Given the description of an element on the screen output the (x, y) to click on. 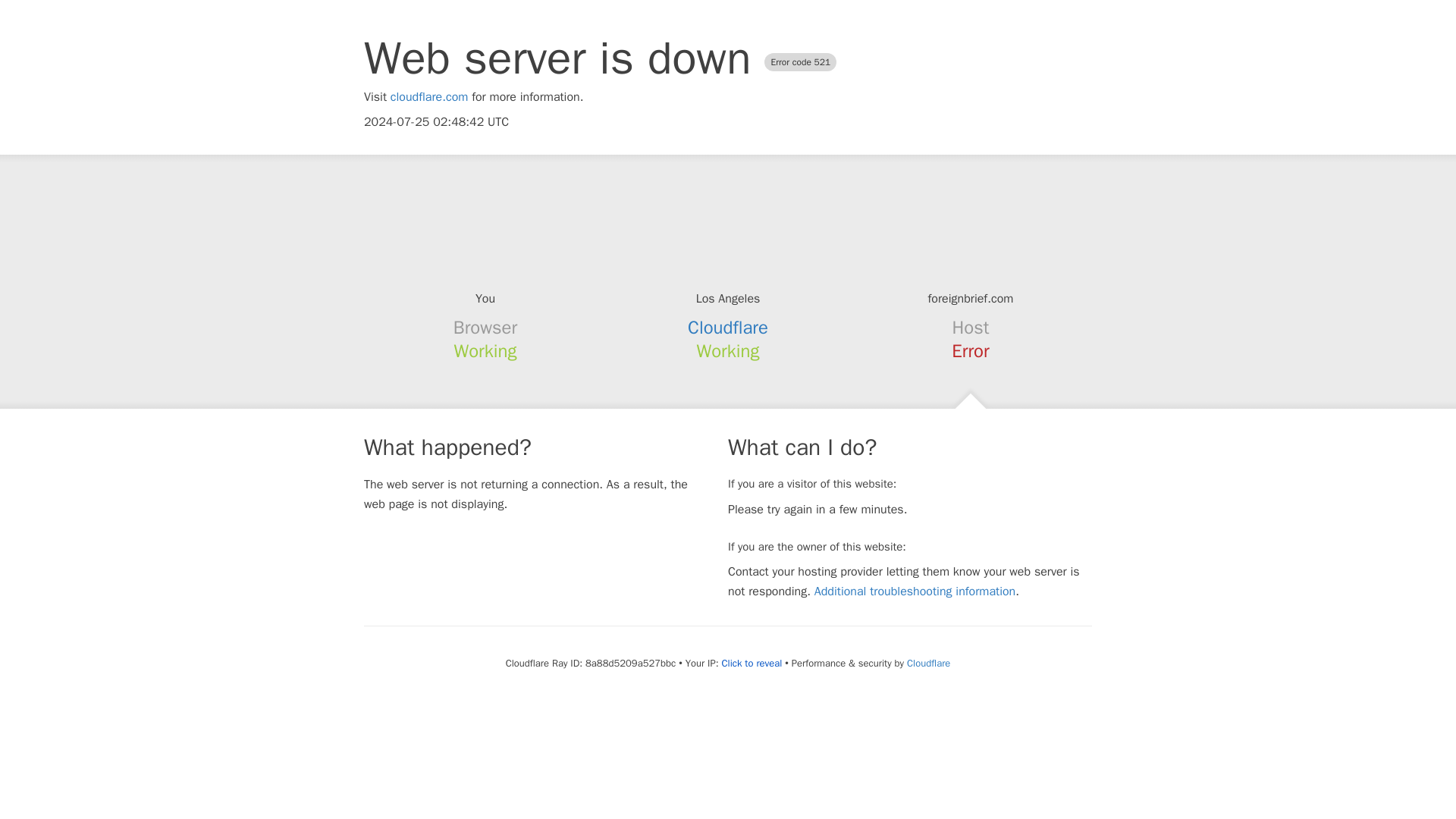
Cloudflare (928, 662)
Click to reveal (750, 663)
Cloudflare (727, 327)
Additional troubleshooting information (913, 590)
cloudflare.com (429, 96)
